Given the description of an element on the screen output the (x, y) to click on. 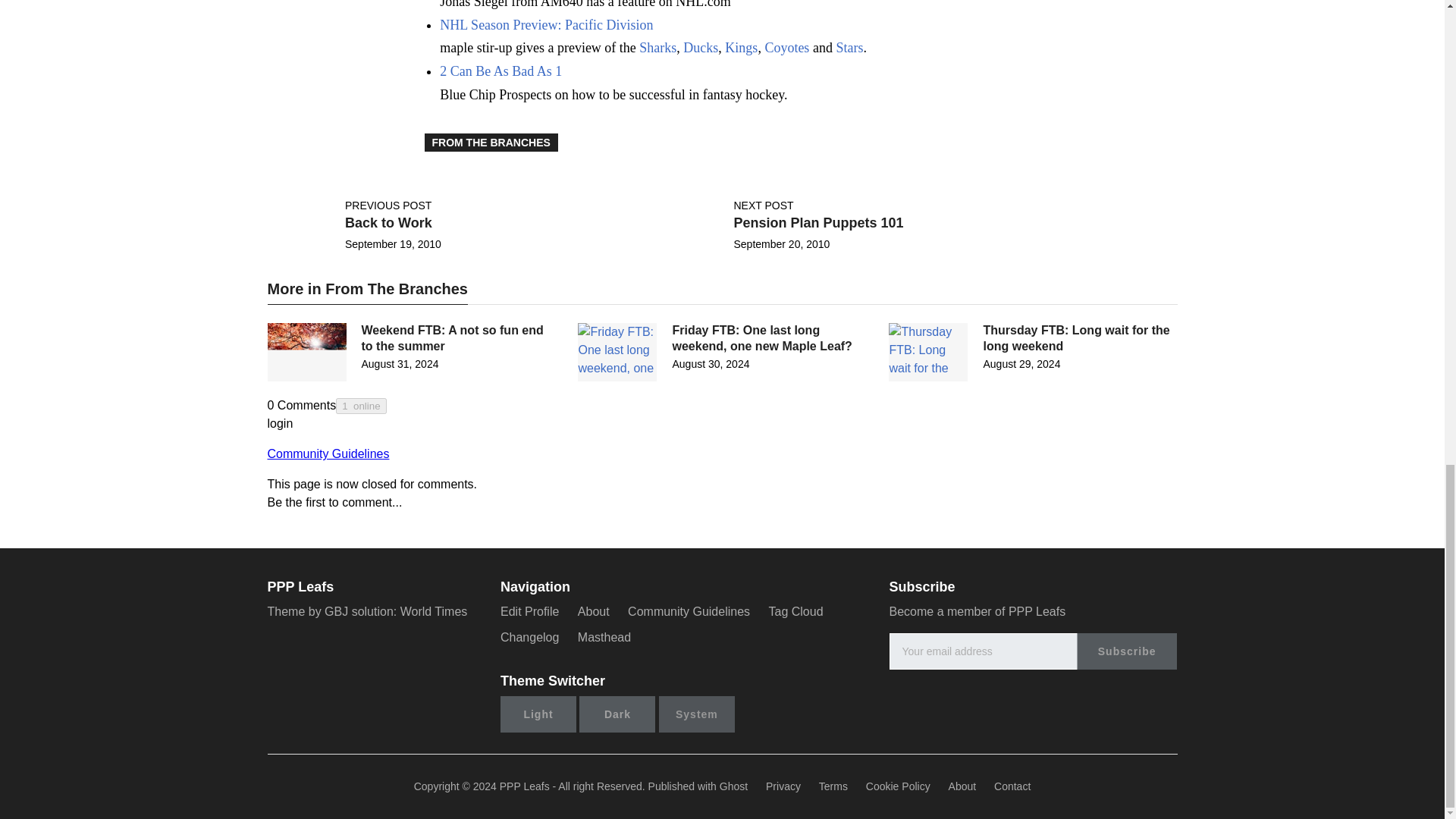
30 August, 2024 (710, 363)
20 September, 2010 (781, 244)
31 August, 2024 (399, 363)
19 September, 2010 (393, 244)
29 August, 2024 (1020, 363)
